Given the description of an element on the screen output the (x, y) to click on. 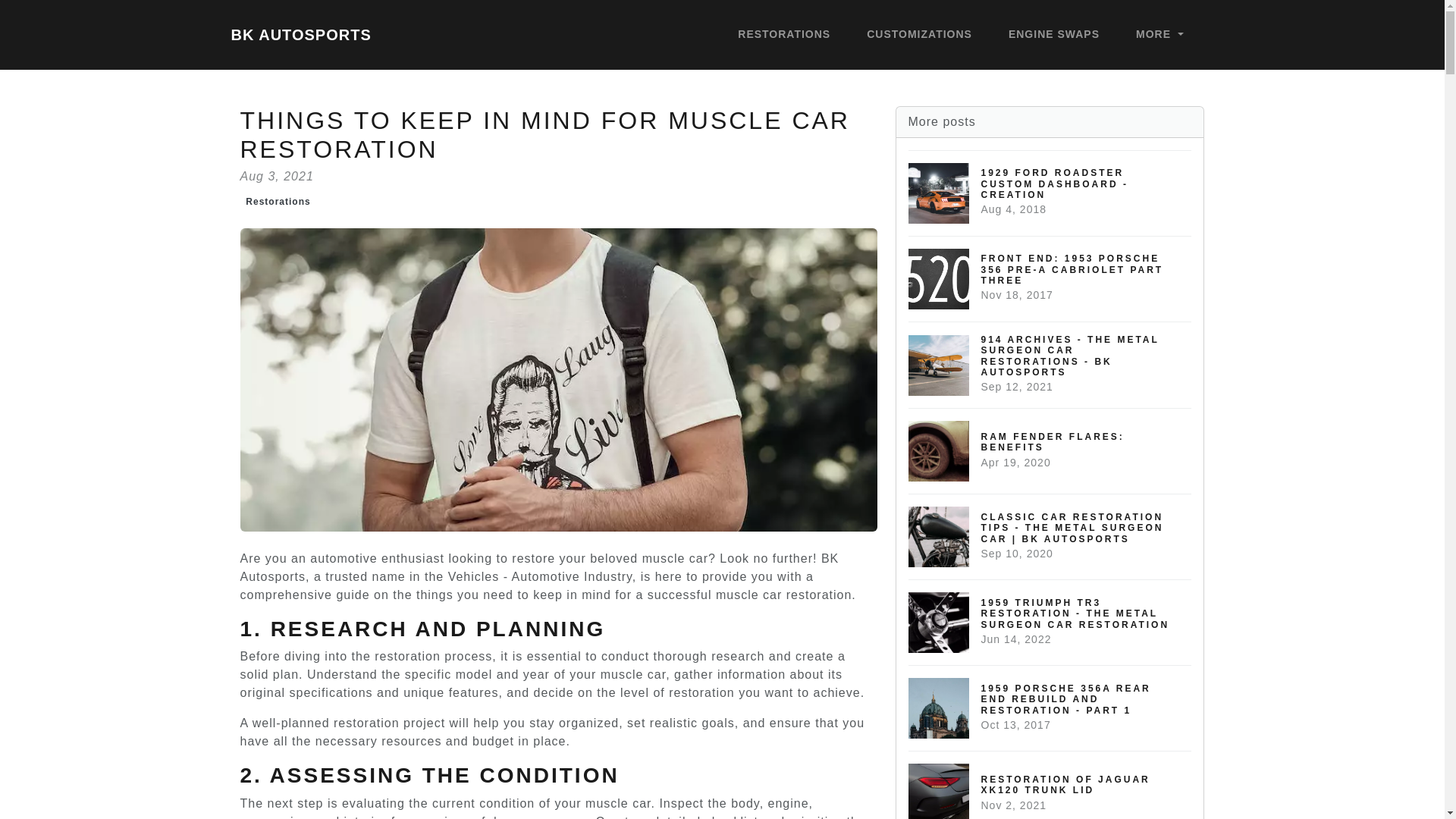
CUSTOMIZATIONS (1050, 450)
Restorations (1050, 785)
RESTORATIONS (919, 34)
ENGINE SWAPS (277, 201)
MORE (783, 34)
BK AUTOSPORTS (1050, 192)
